Given the description of an element on the screen output the (x, y) to click on. 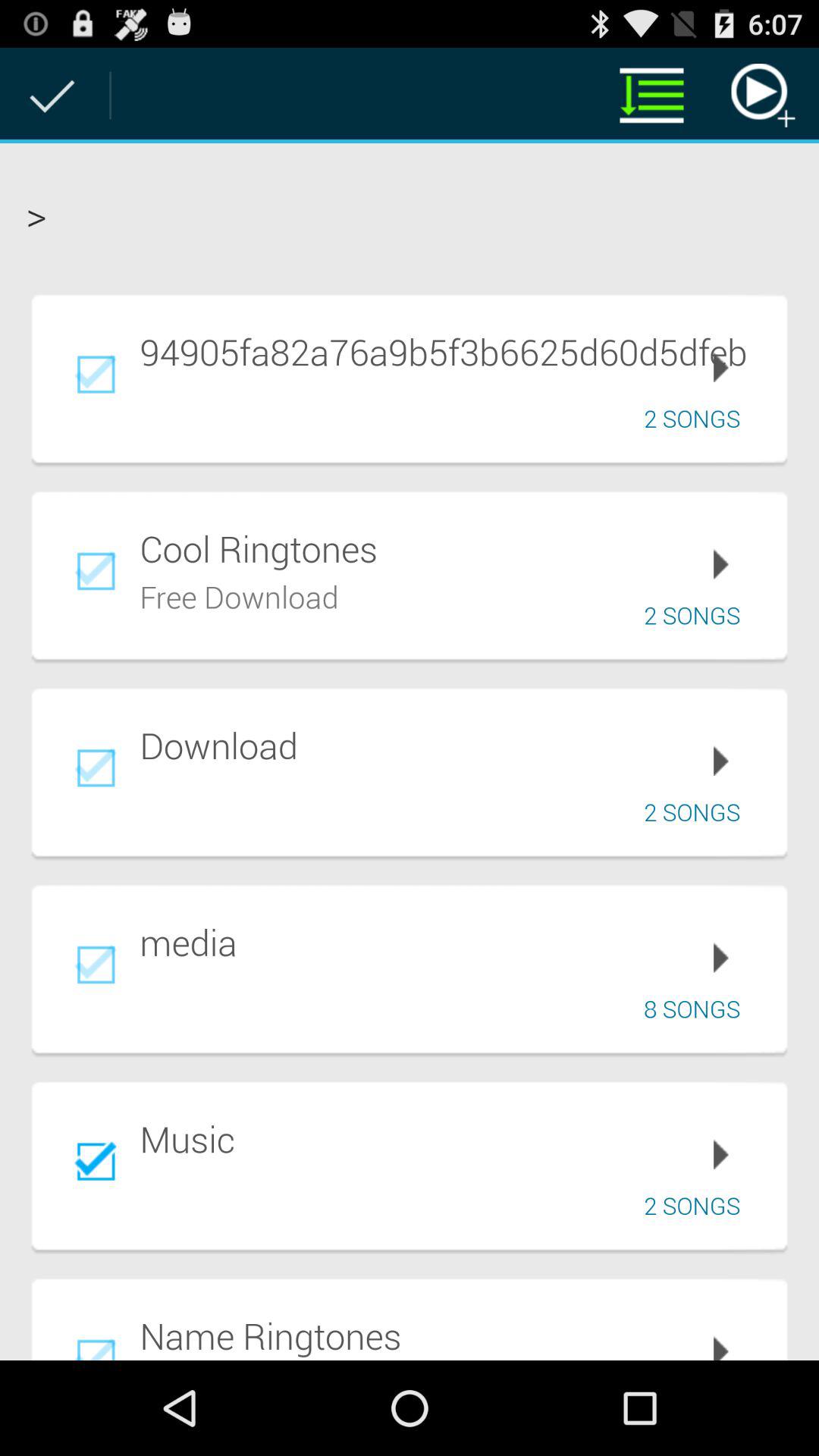
select the > (409, 213)
